Given the description of an element on the screen output the (x, y) to click on. 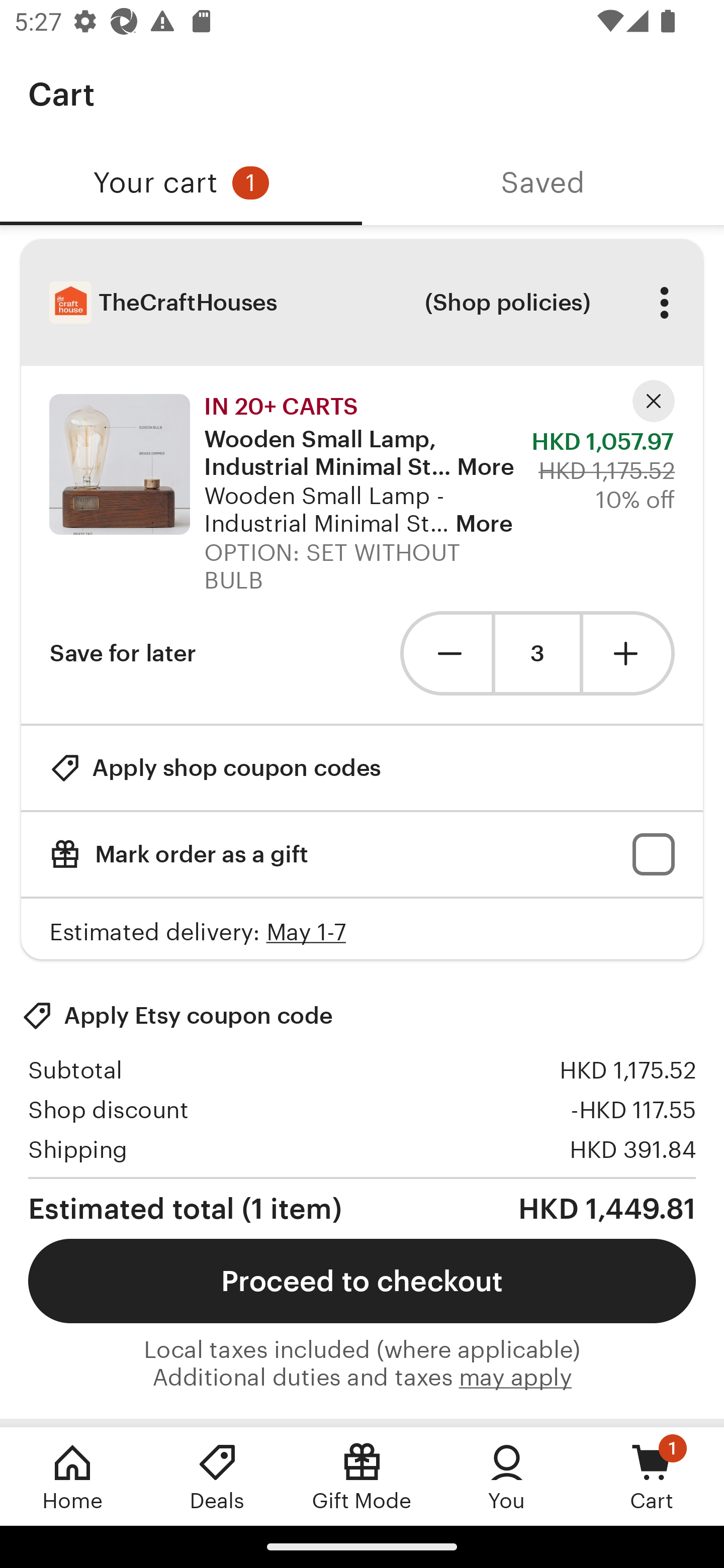
Saved, tab 2 of 2 Saved (543, 183)
TheCraftHouses (Shop policies) More options (361, 302)
(Shop policies) (507, 302)
More options (663, 302)
Save for later (122, 653)
Remove one unit from cart (445, 653)
Add one unit to cart (628, 653)
3 (537, 653)
Apply shop coupon codes (215, 767)
Mark order as a gift (361, 854)
Apply Etsy coupon code (177, 1015)
Proceed to checkout (361, 1280)
Home (72, 1475)
Deals (216, 1475)
Gift Mode (361, 1475)
You (506, 1475)
